Given the description of an element on the screen output the (x, y) to click on. 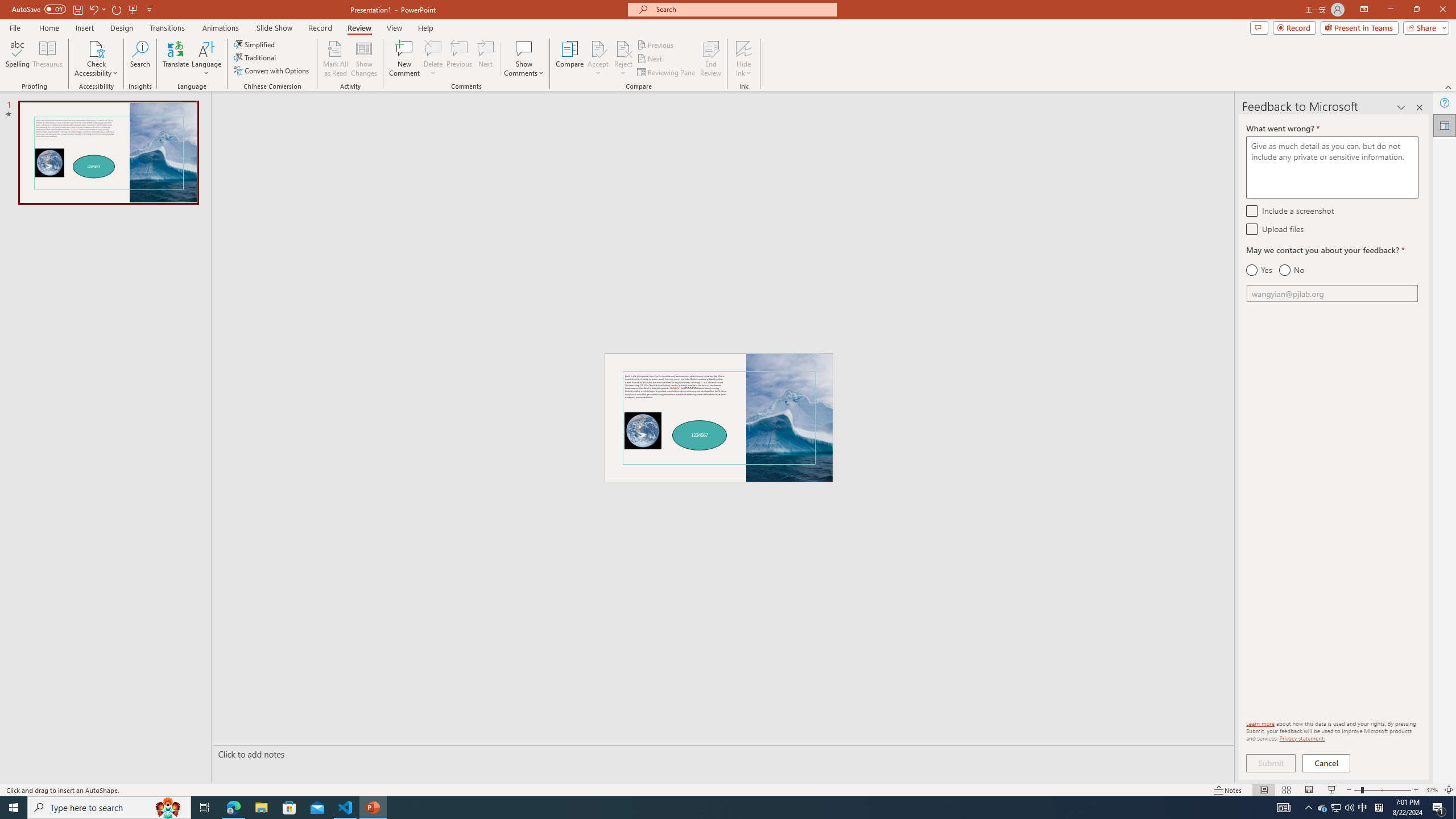
Accept (598, 58)
Task Pane Options (1400, 107)
Slide Show (1331, 790)
Delete (432, 48)
System (6, 6)
System (6, 6)
Normal (1263, 790)
Simplified (254, 44)
Quick Access Toolbar (82, 9)
Transitions (167, 28)
Translate (175, 58)
Present in Teams (1359, 27)
Share (1423, 27)
Collapse the Ribbon (1448, 86)
Hide Ink (743, 58)
